Given the description of an element on the screen output the (x, y) to click on. 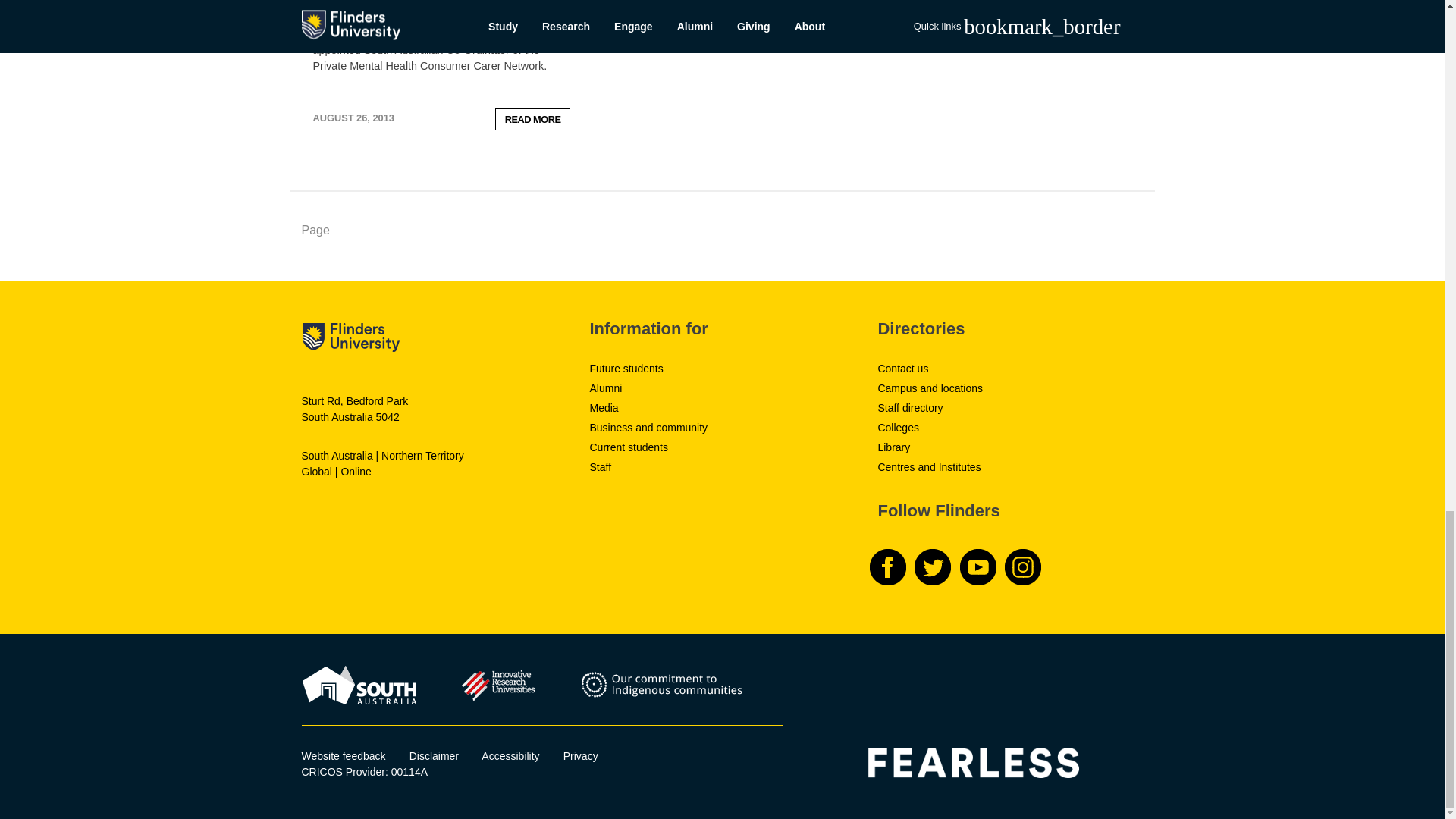
Media (603, 408)
Future students (625, 368)
Alumni (605, 387)
Business and community (648, 427)
READ MORE (532, 119)
Current students (628, 447)
